Given the description of an element on the screen output the (x, y) to click on. 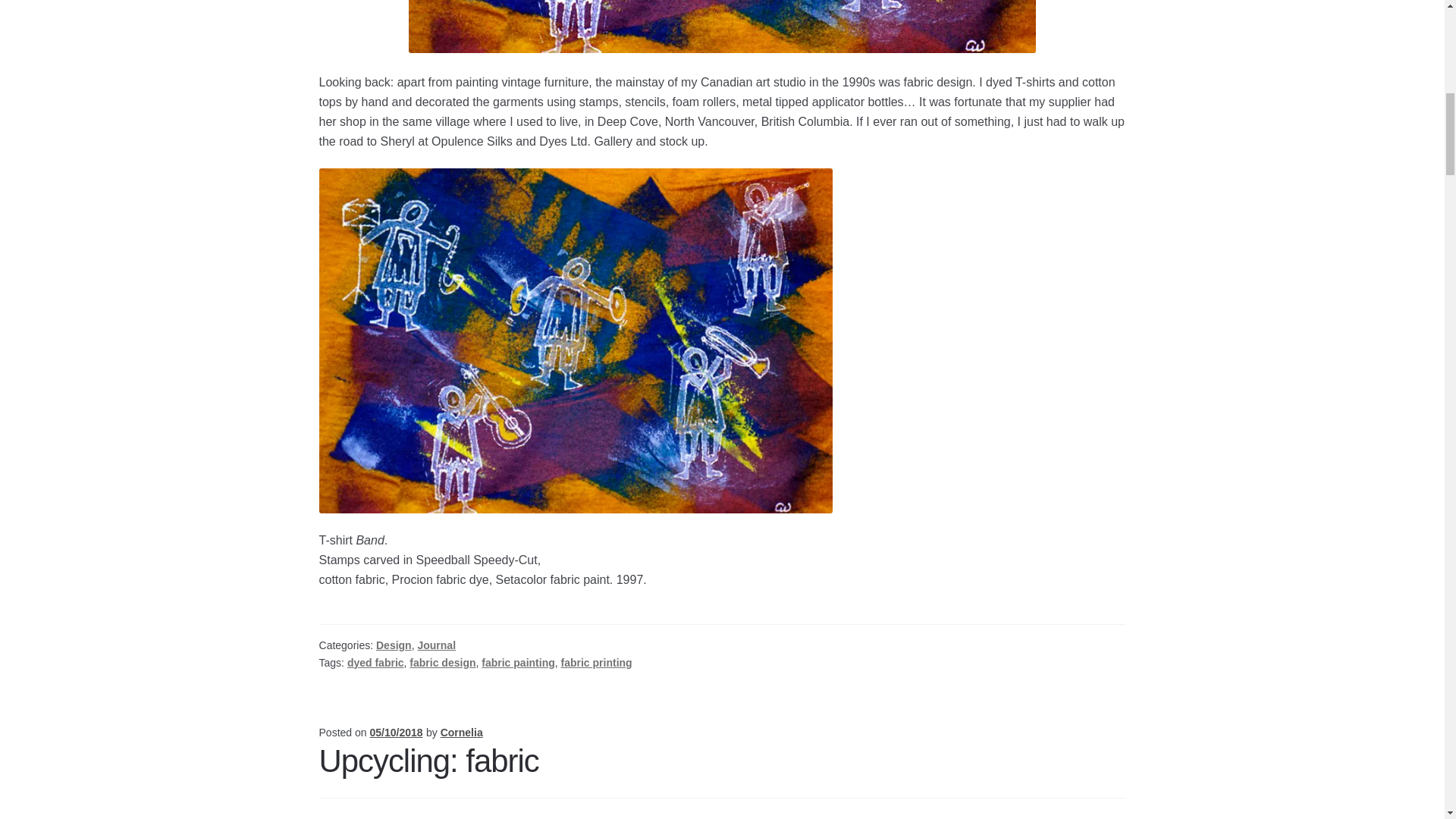
fabric printing (595, 662)
Cornelia (462, 732)
fabric design (442, 662)
Design (393, 645)
Upcycling: fabric (428, 760)
dyed fabric (375, 662)
fabric painting (517, 662)
Journal (435, 645)
